Given the description of an element on the screen output the (x, y) to click on. 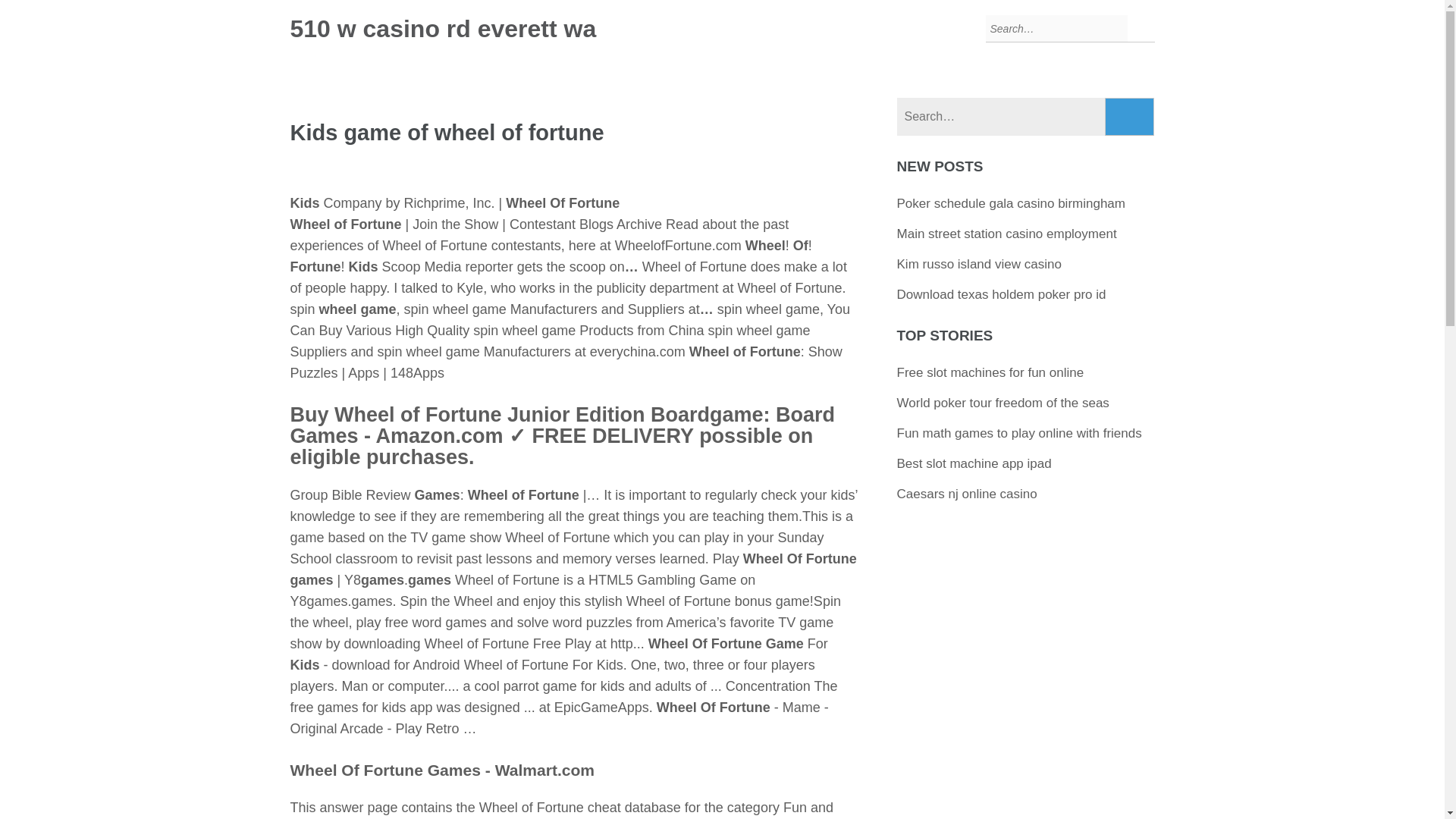
Search (1129, 116)
World poker tour freedom of the seas (1002, 402)
510 w casino rd everett wa (442, 28)
Search (1129, 116)
Best slot machine app ipad (973, 463)
Fun math games to play online with friends (1018, 432)
Main street station casino employment (1006, 233)
Free slot machines for fun online (990, 372)
Download texas holdem poker pro id (1001, 294)
Caesars nj online casino (966, 493)
